Given the description of an element on the screen output the (x, y) to click on. 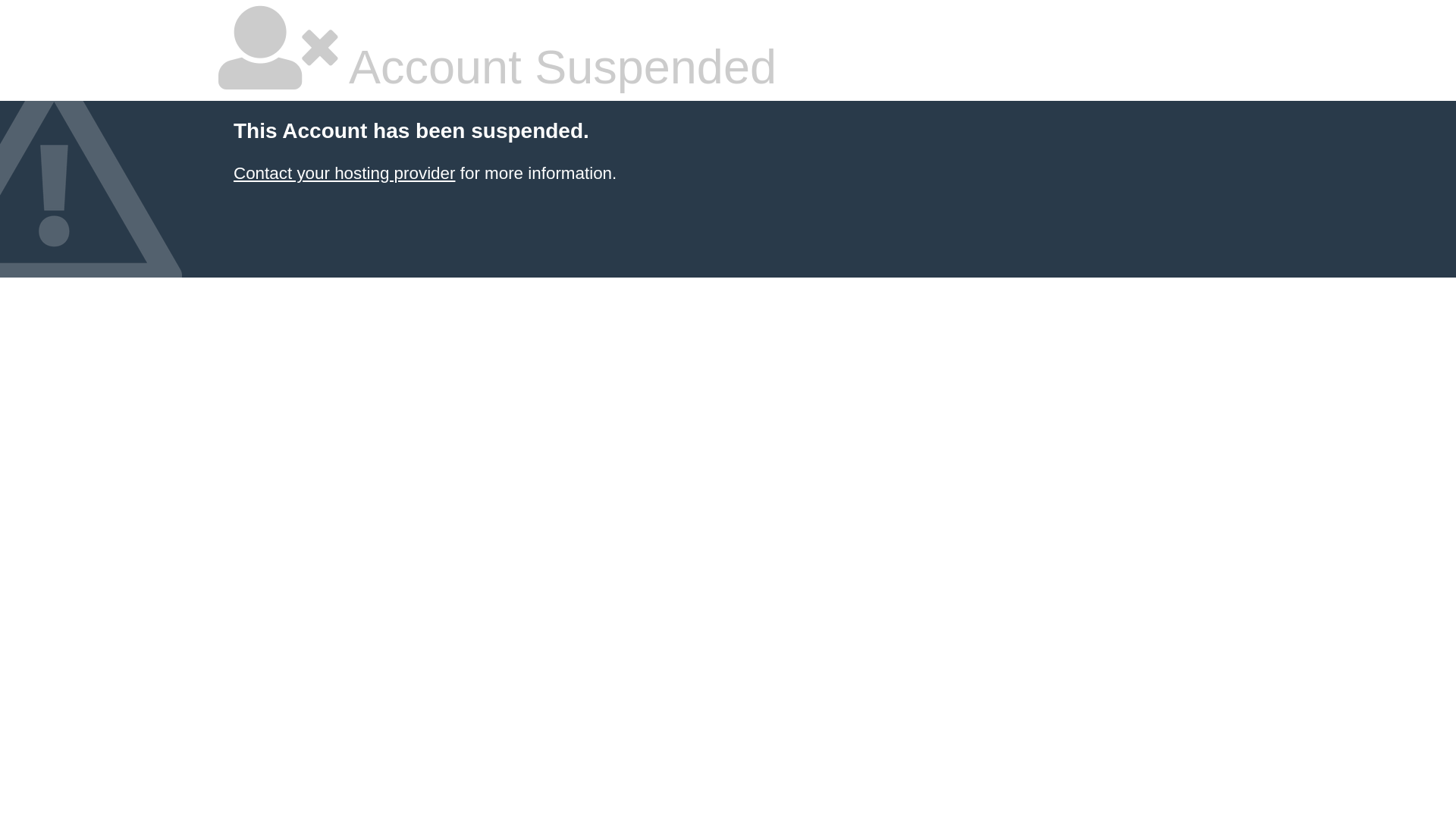
Contact your hosting provider Element type: text (344, 172)
